Given the description of an element on the screen output the (x, y) to click on. 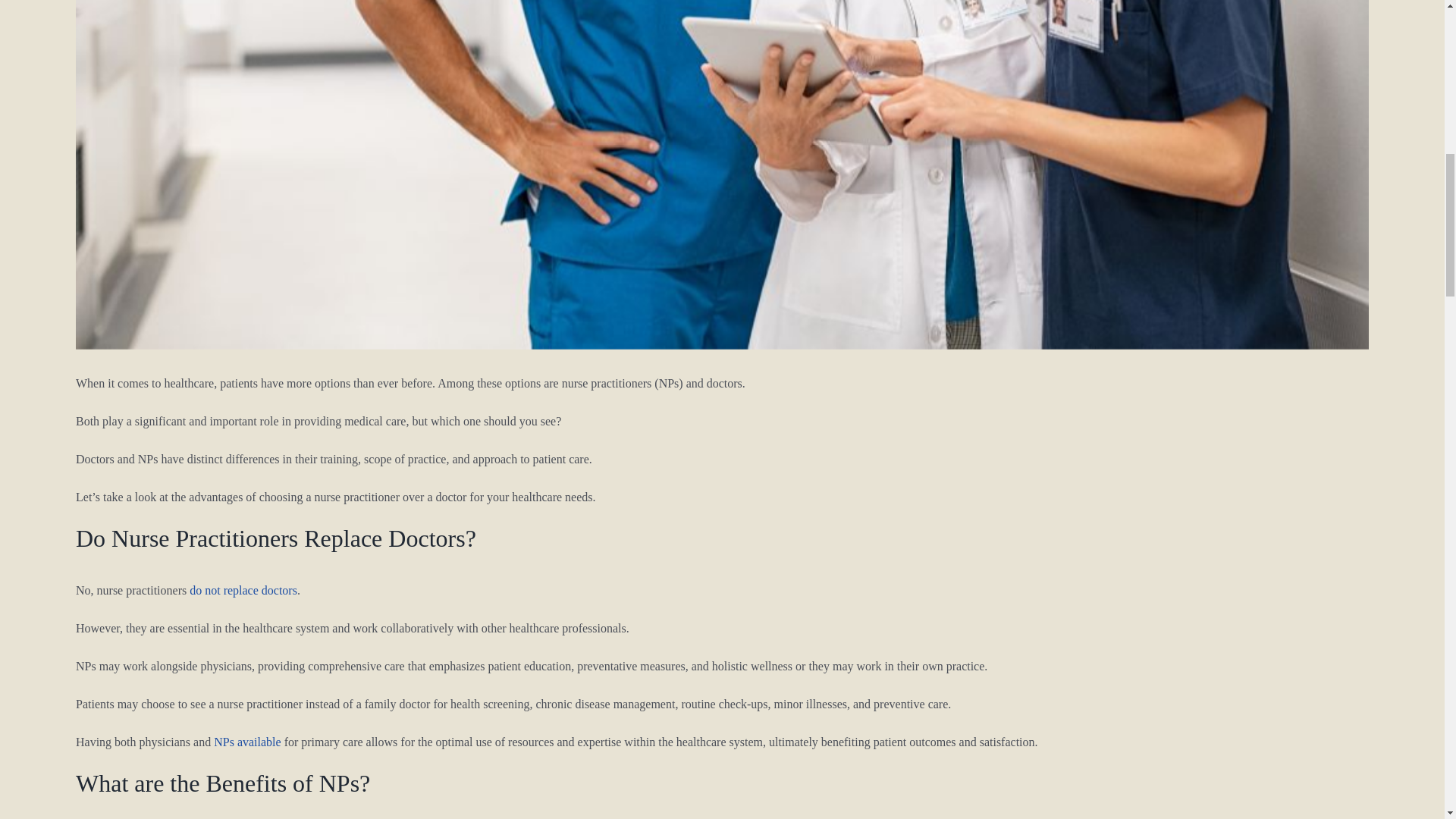
do not replace doctors (243, 590)
NPs available (247, 741)
